Given the description of an element on the screen output the (x, y) to click on. 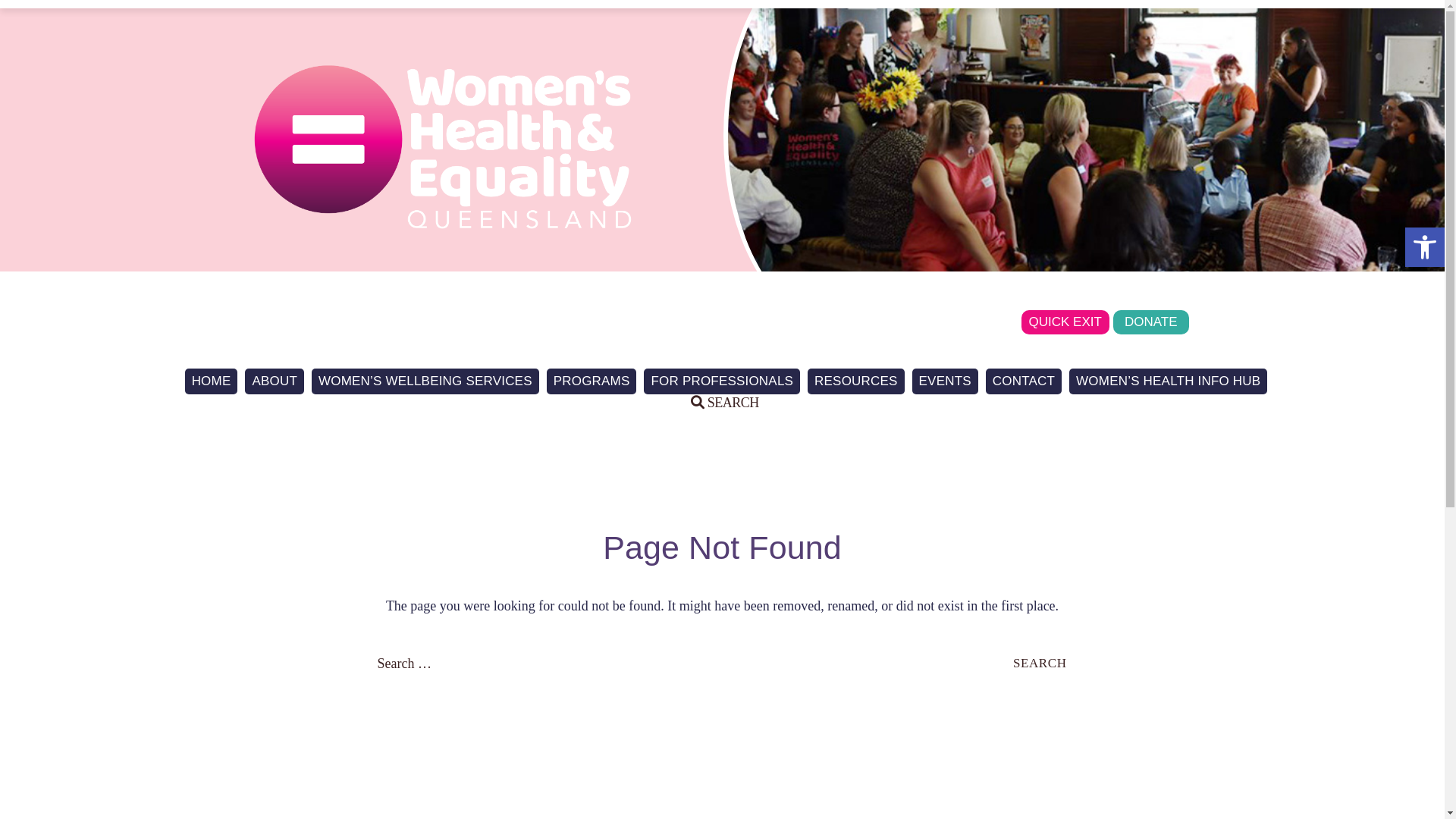
SEARCH Element type: text (724, 402)
RESOURCES Element type: text (855, 381)
Open toolbar Element type: text (1424, 246)
Search Element type: text (1039, 662)
ABOUT Element type: text (274, 381)
EVENTS Element type: text (945, 381)
DONATE Element type: text (1151, 322)
PROGRAMS Element type: text (591, 381)
CONTACT Element type: text (1023, 381)
QUICK EXIT Element type: text (1065, 322)
Search Element type: text (34, 12)
HOME Element type: text (211, 381)
FOR PROFESSIONALS Element type: text (721, 381)
